Given the description of an element on the screen output the (x, y) to click on. 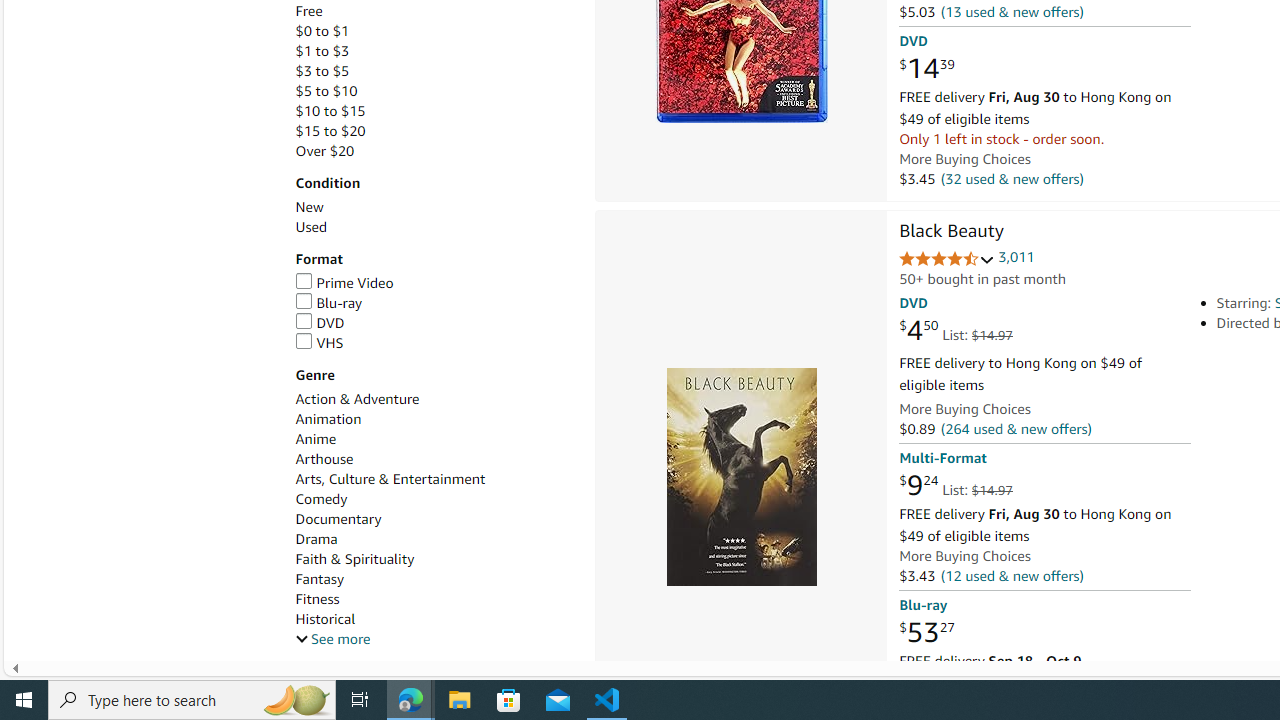
4.7 out of 5 stars (946, 259)
$14.39 (926, 69)
Arthouse (434, 459)
Black Beauty (951, 232)
$5 to $10 (326, 91)
Documentary (434, 519)
Historical (434, 619)
VHS (319, 342)
Fitness (434, 599)
3,011 (1016, 257)
DVD (319, 322)
Prime Video (344, 282)
Anime (434, 439)
Drama (434, 539)
$53.27 (926, 632)
